Given the description of an element on the screen output the (x, y) to click on. 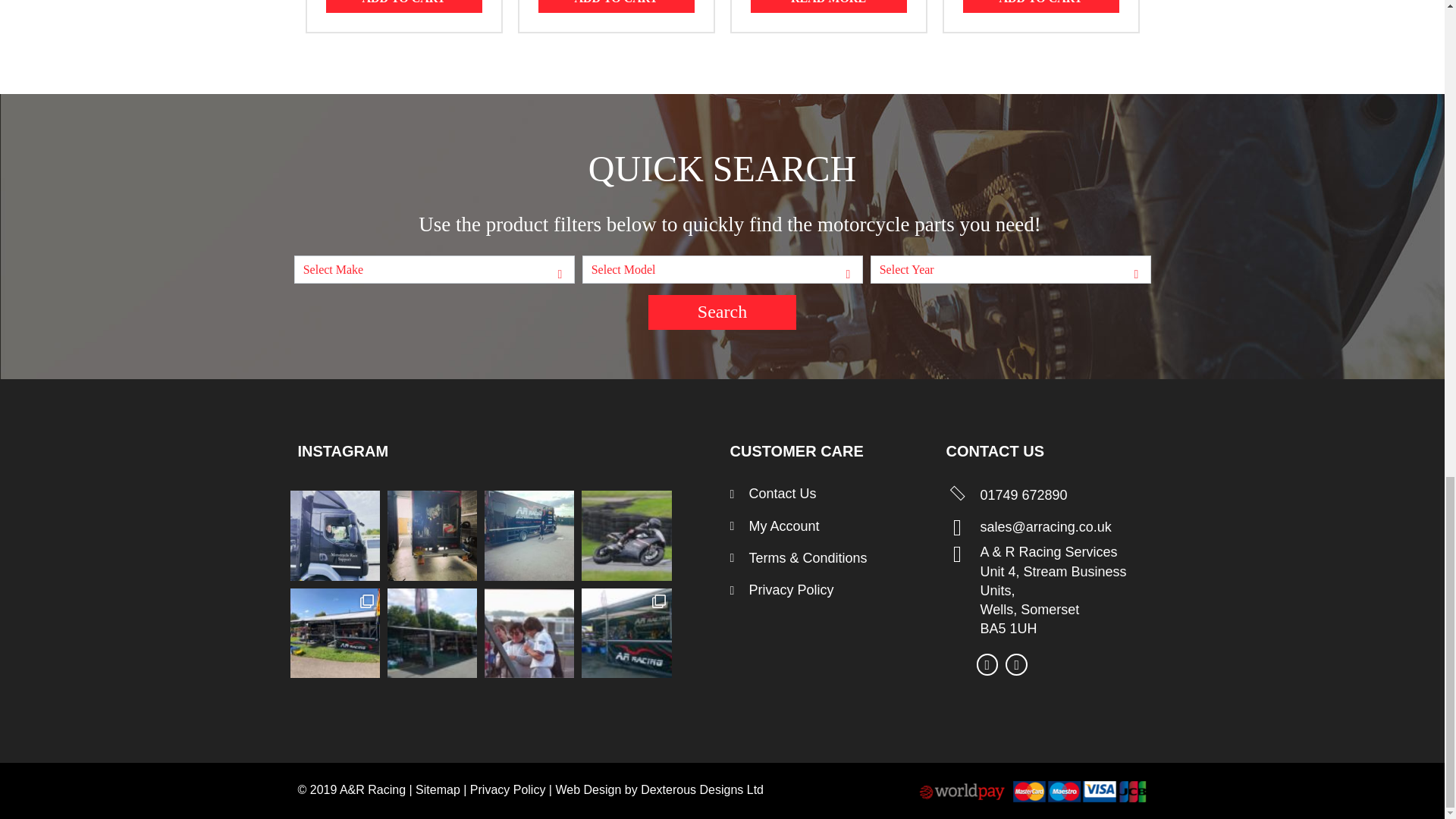
Select Make (433, 269)
Select Model (721, 269)
Select Year (1010, 269)
